Given the description of an element on the screen output the (x, y) to click on. 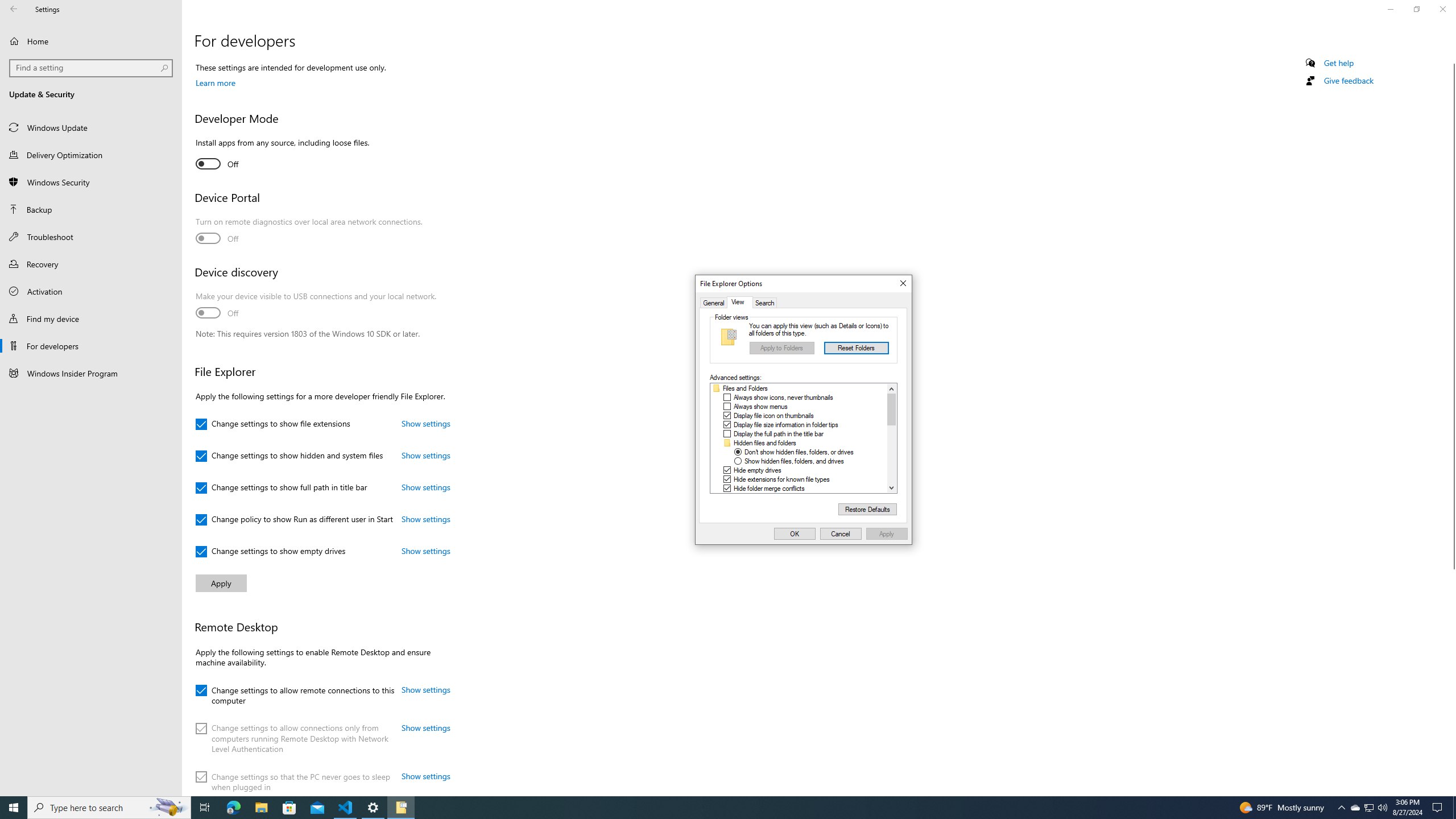
Page down (891, 454)
